Given the description of an element on the screen output the (x, y) to click on. 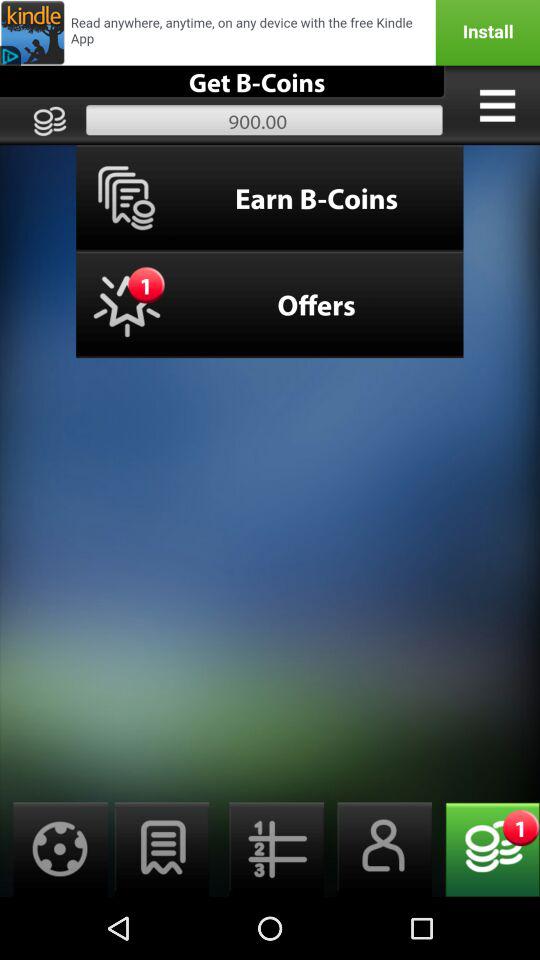
view advertisement (270, 32)
